Given the description of an element on the screen output the (x, y) to click on. 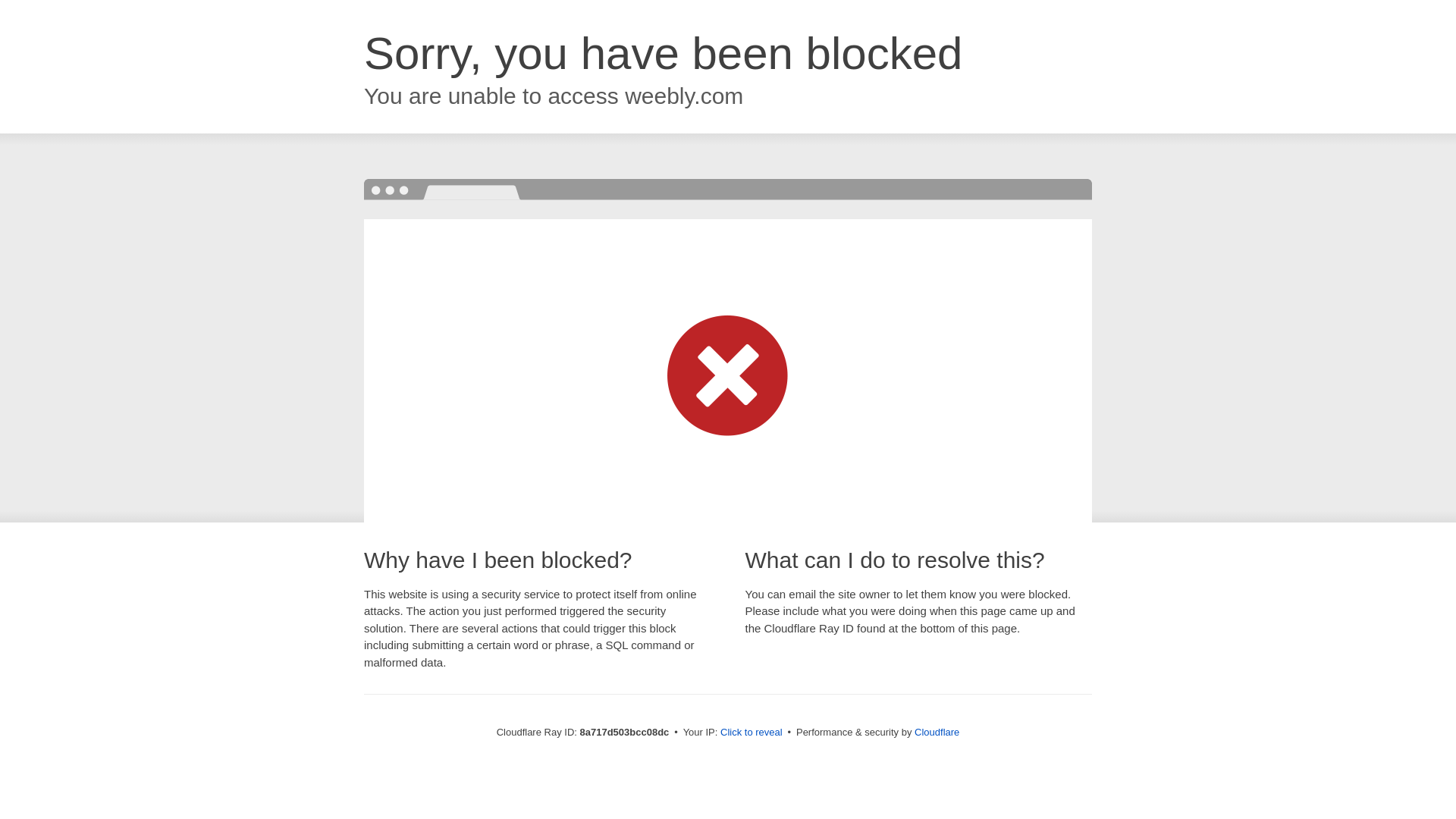
Cloudflare (936, 731)
Click to reveal (751, 732)
